Given the description of an element on the screen output the (x, y) to click on. 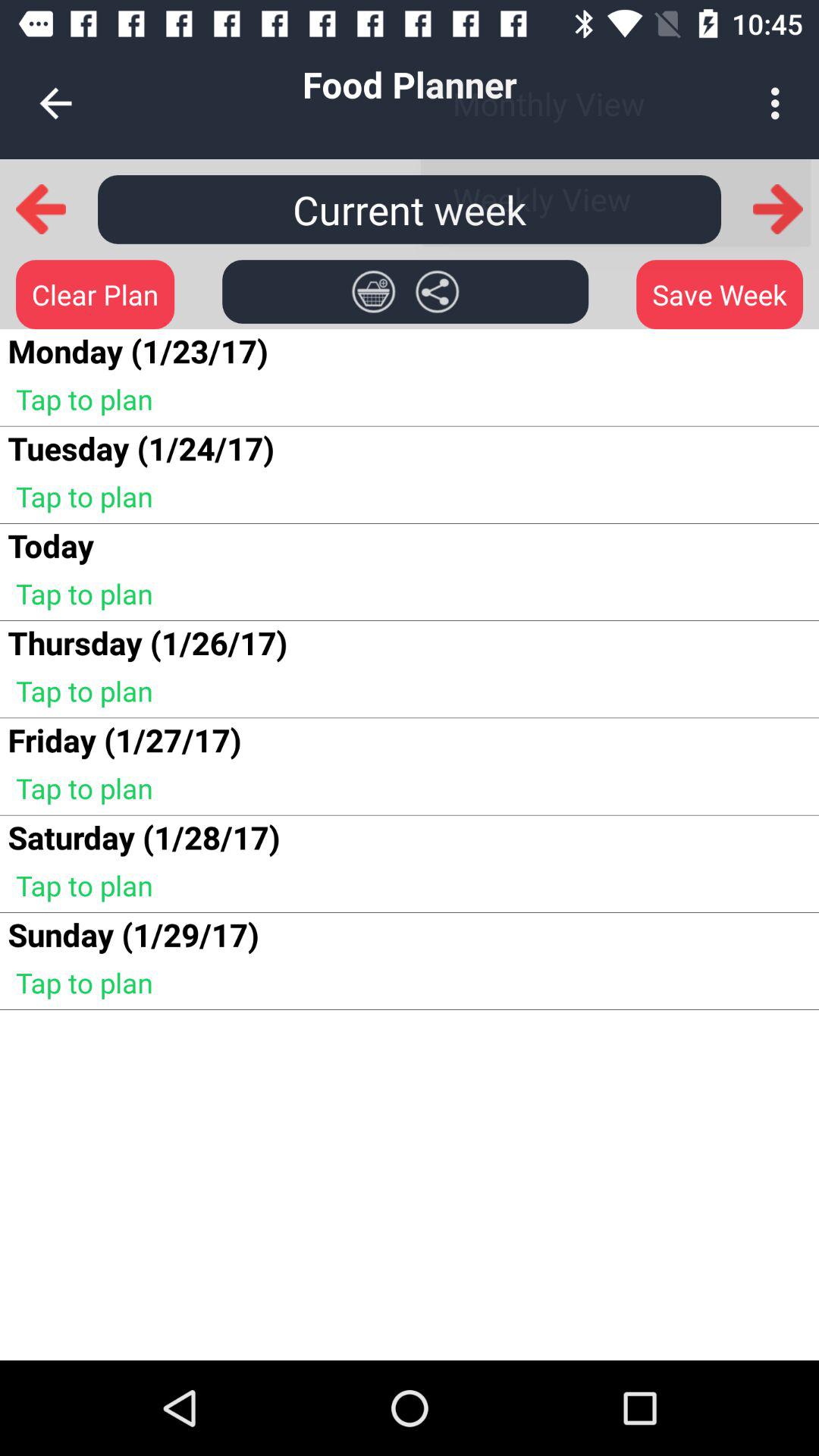
turn off icon next to the food planner icon (55, 103)
